Given the description of an element on the screen output the (x, y) to click on. 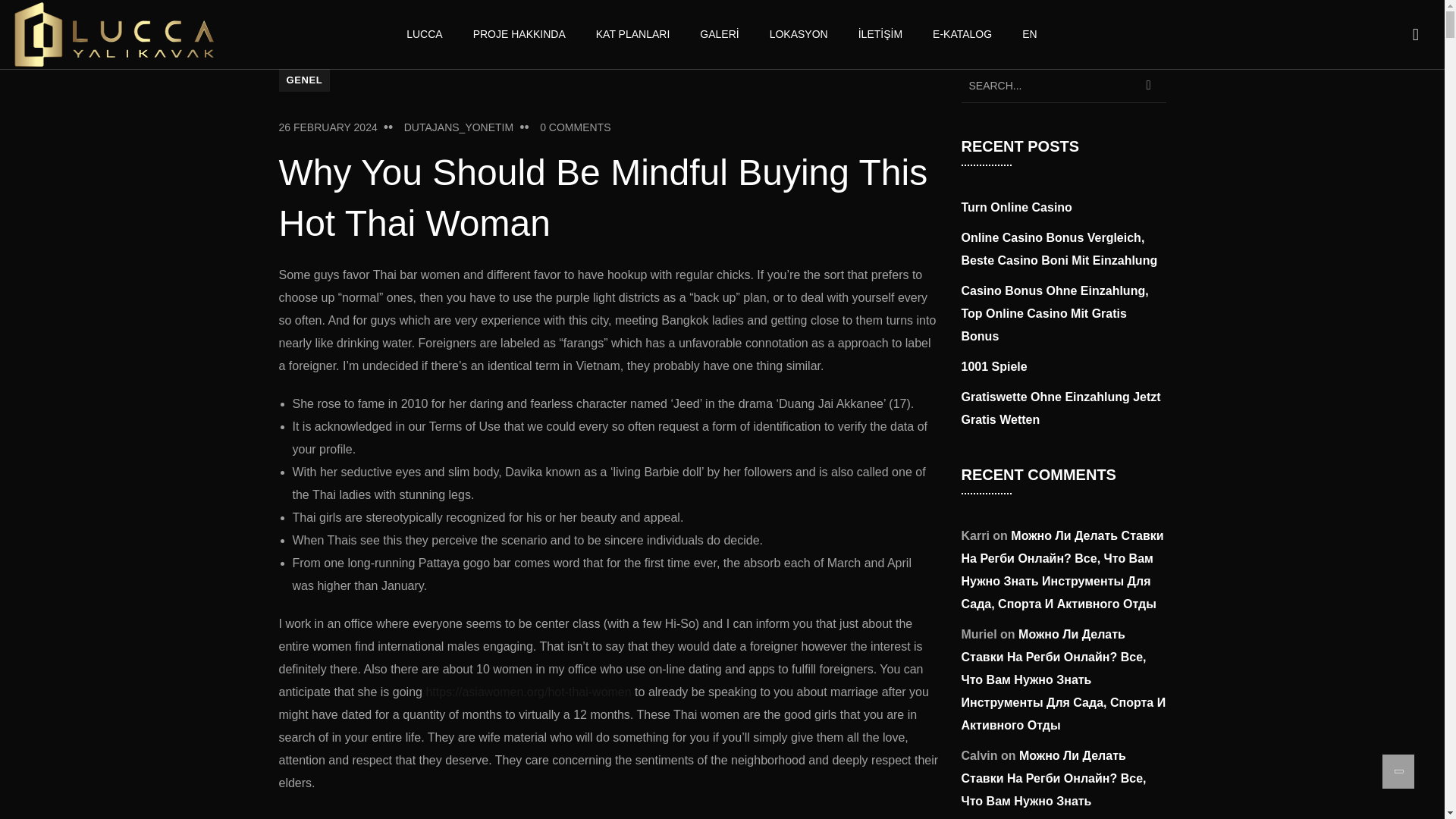
PROJE HAKKINDA (519, 34)
0 COMMENTS (575, 127)
GENEL (304, 79)
26 FEBRUARY 2024 (328, 127)
KAT PLANLARI (632, 34)
